Given the description of an element on the screen output the (x, y) to click on. 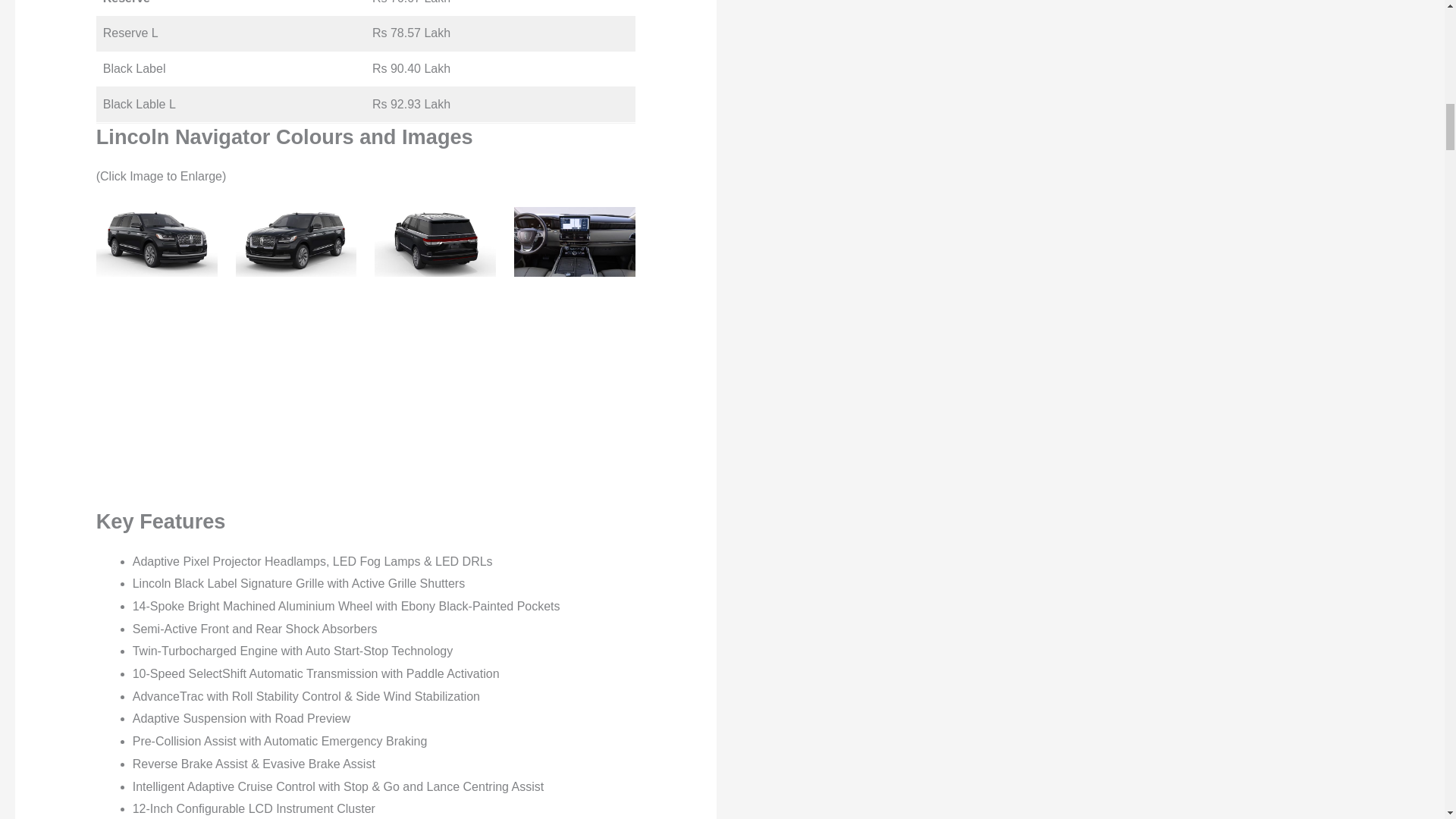
Advertisement (323, 401)
